Given the description of an element on the screen output the (x, y) to click on. 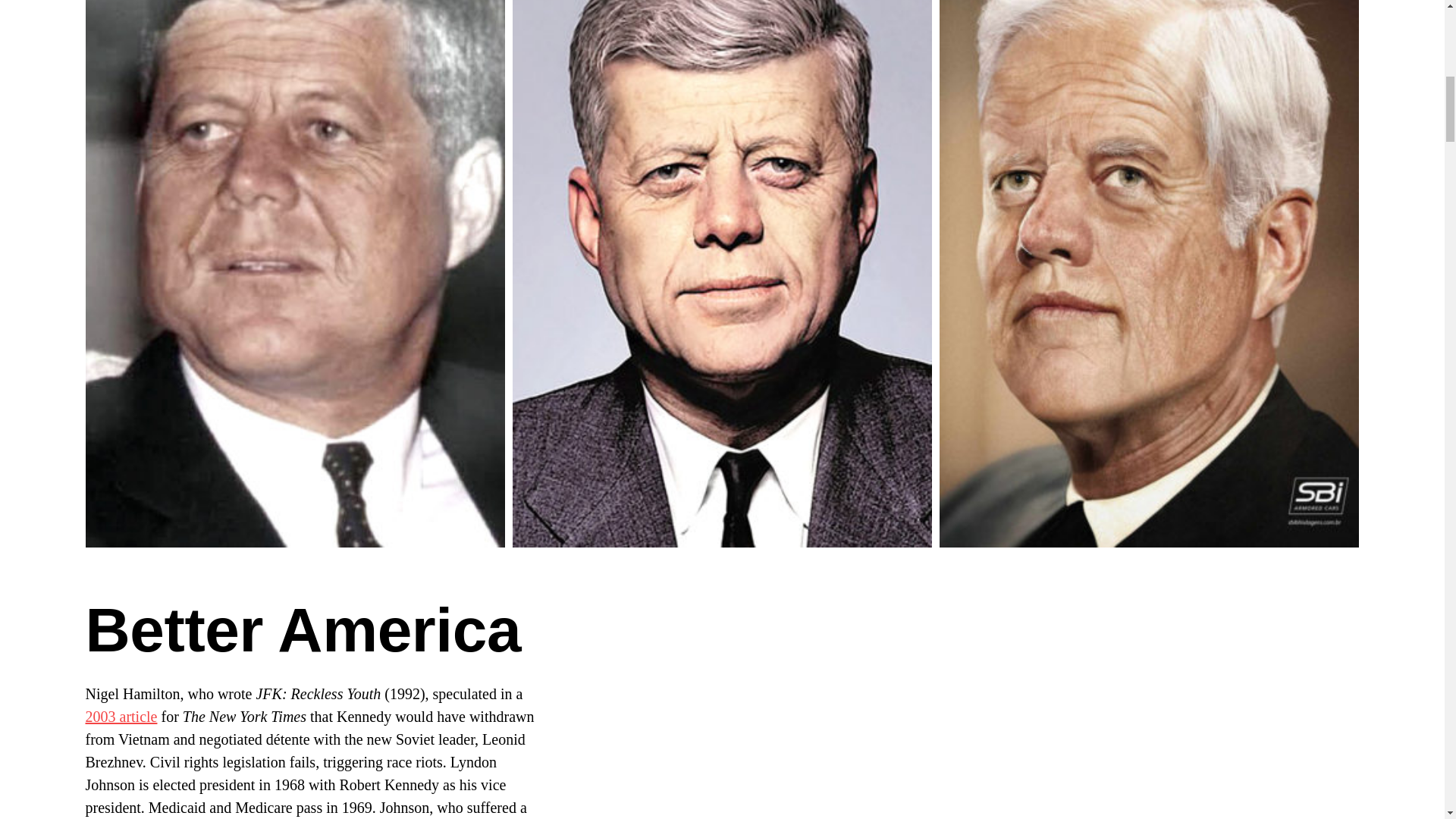
2003 article (120, 716)
